Given the description of an element on the screen output the (x, y) to click on. 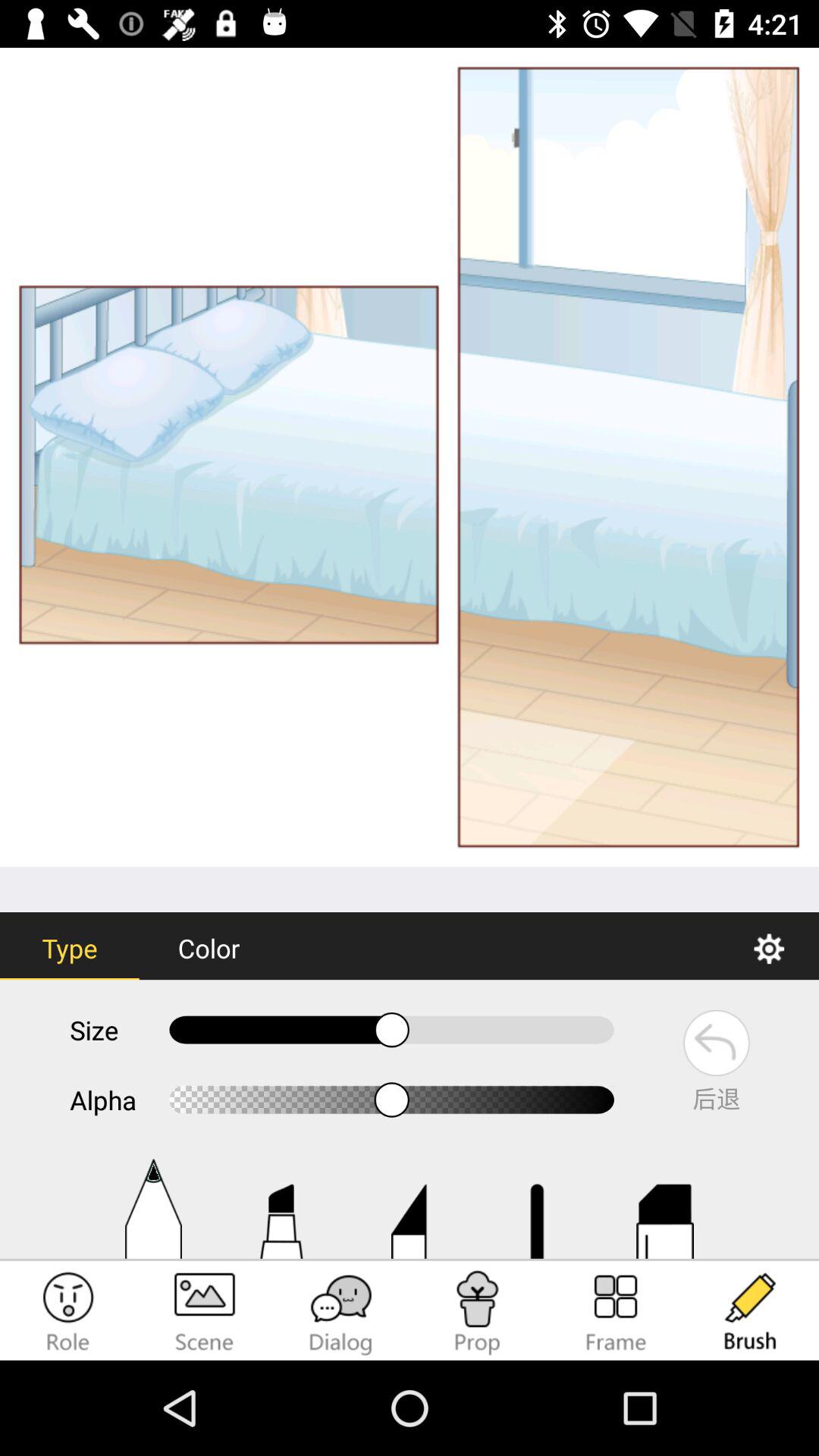
launch item above the type app (409, 456)
